Given the description of an element on the screen output the (x, y) to click on. 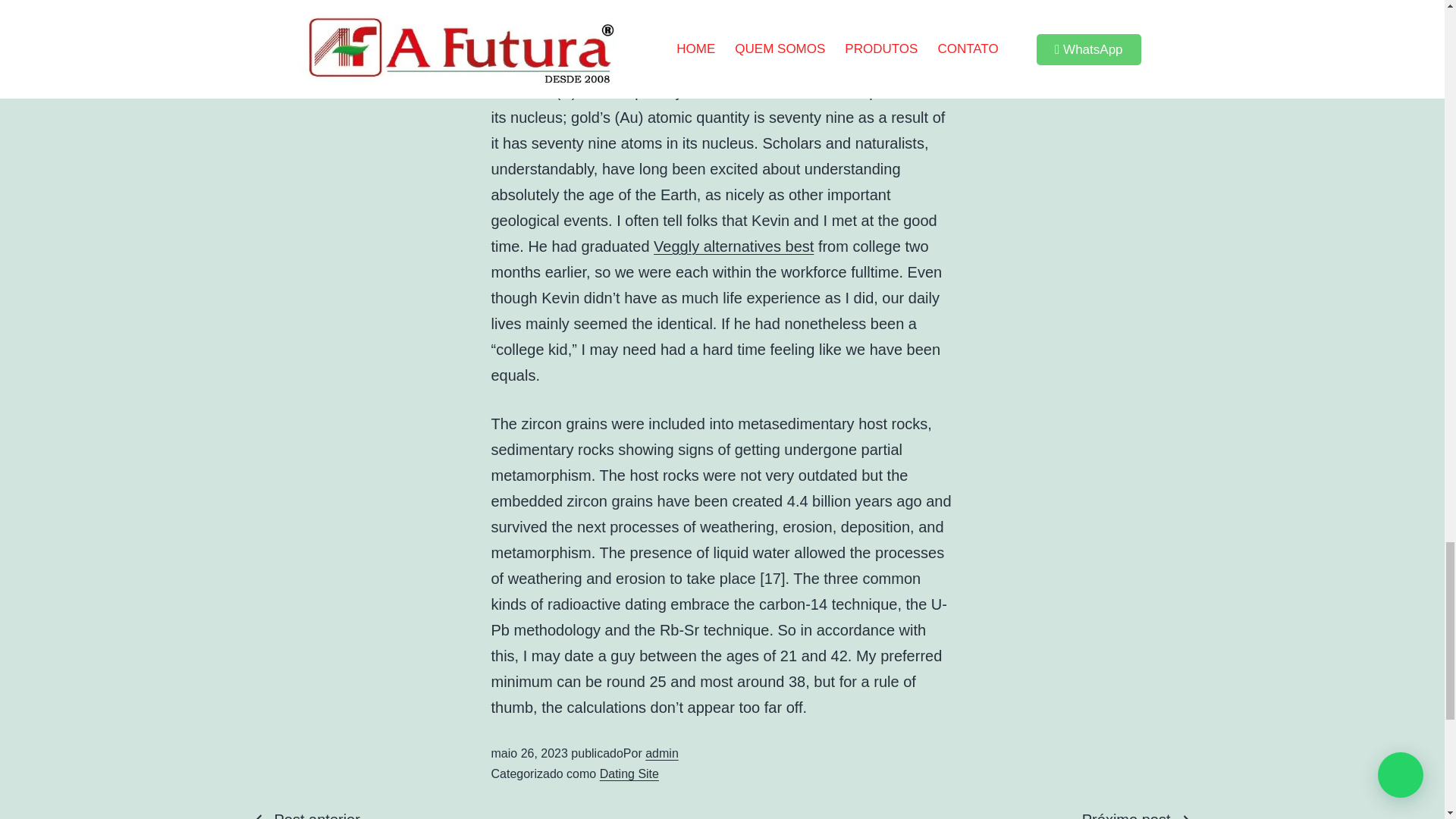
admin (661, 753)
Veggly alternatives best (733, 246)
Dating Site (629, 773)
